Given the description of an element on the screen output the (x, y) to click on. 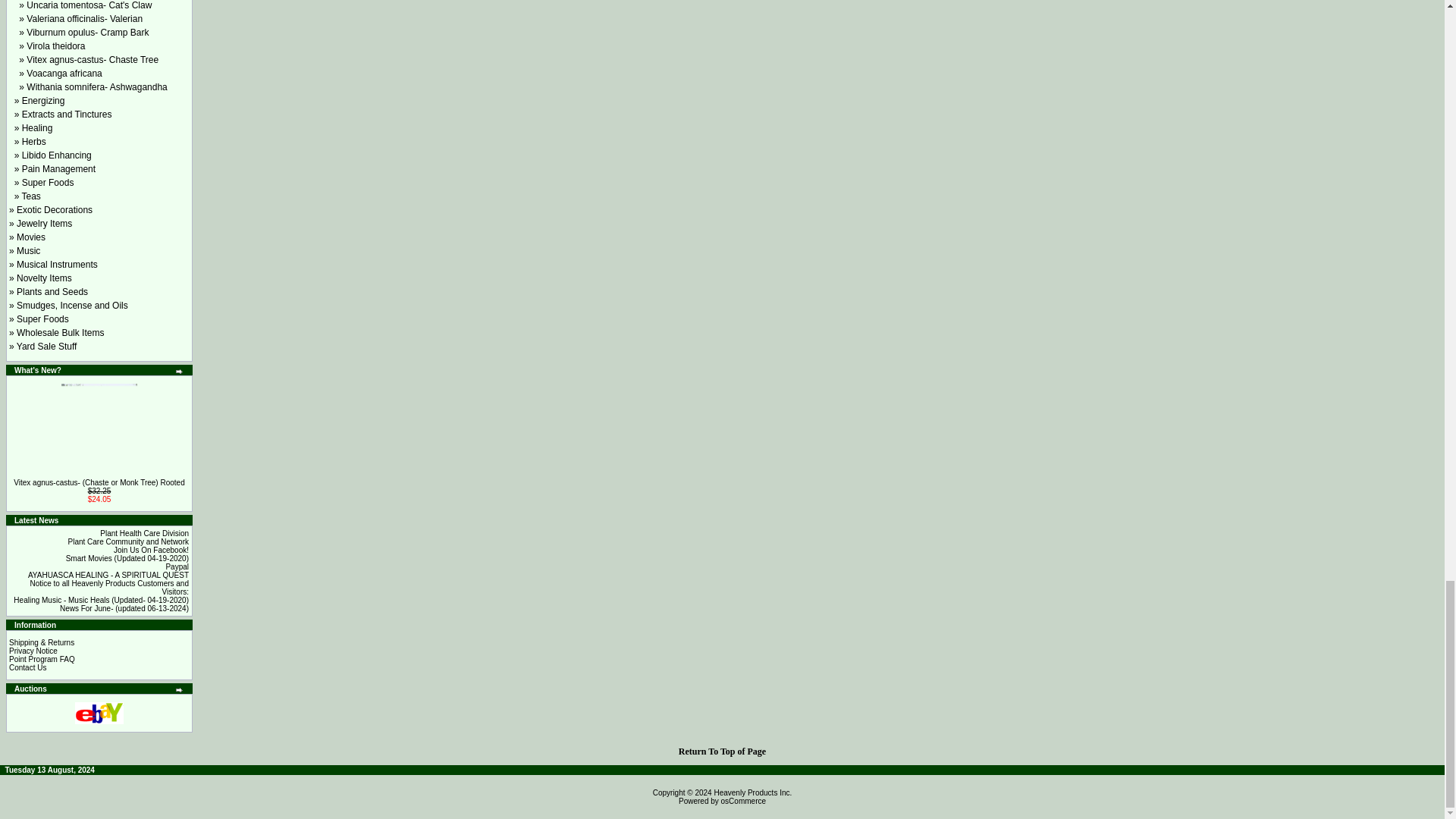
 View Current Auctions  (99, 712)
 more  (179, 689)
 more  (179, 371)
